Given the description of an element on the screen output the (x, y) to click on. 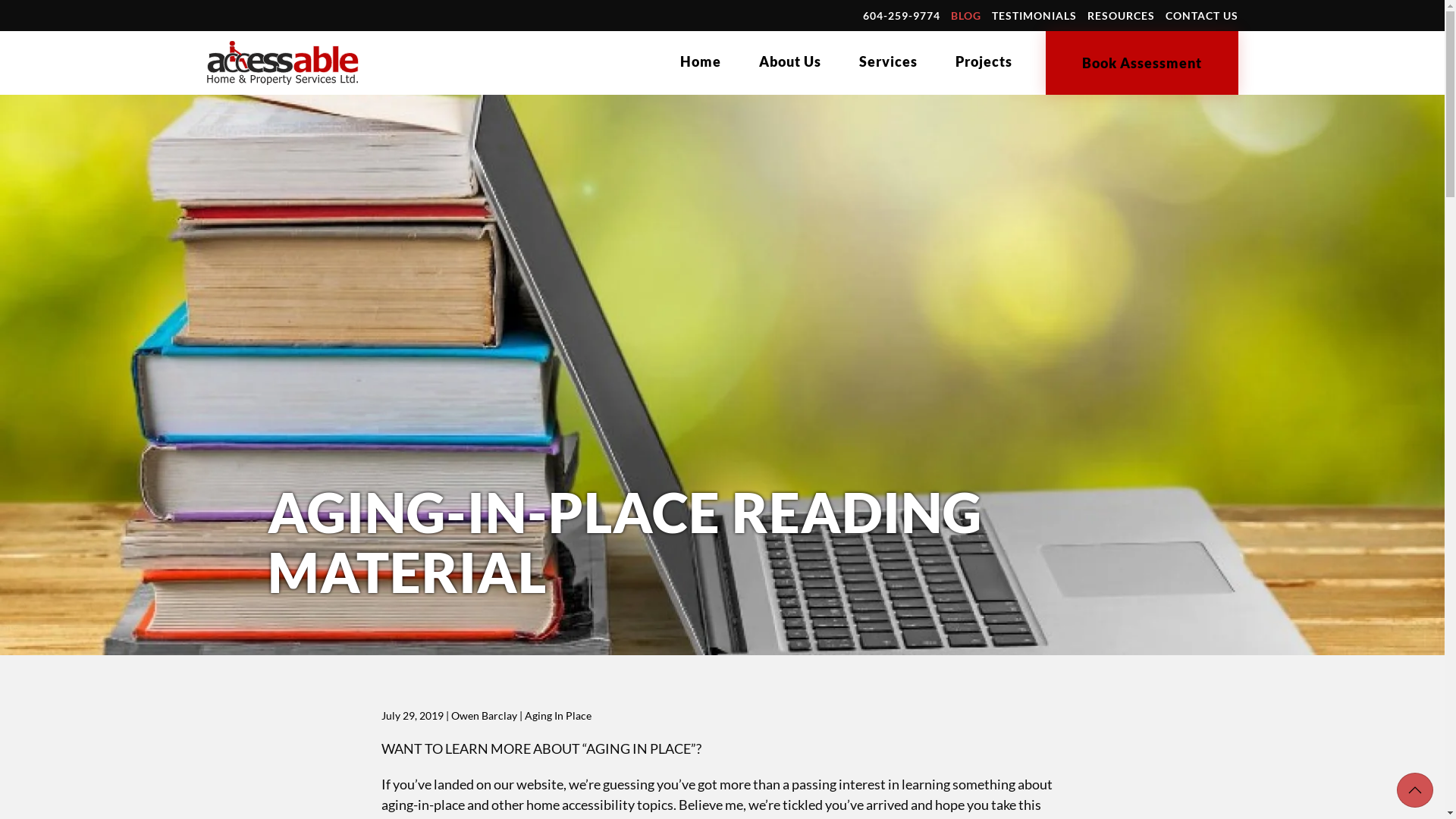
Book Assessment Element type: text (1140, 62)
Owen Barclay Element type: text (483, 715)
Services Element type: text (887, 61)
CONTACT US Element type: text (1200, 15)
About Us Element type: text (789, 61)
RESOURCES Element type: text (1120, 15)
Aging In Place Element type: text (557, 715)
BLOG Element type: text (965, 15)
604-259-9774 Element type: text (901, 15)
Home Element type: text (699, 61)
Projects Element type: text (983, 61)
TESTIMONIALS Element type: text (1033, 15)
